Given the description of an element on the screen output the (x, y) to click on. 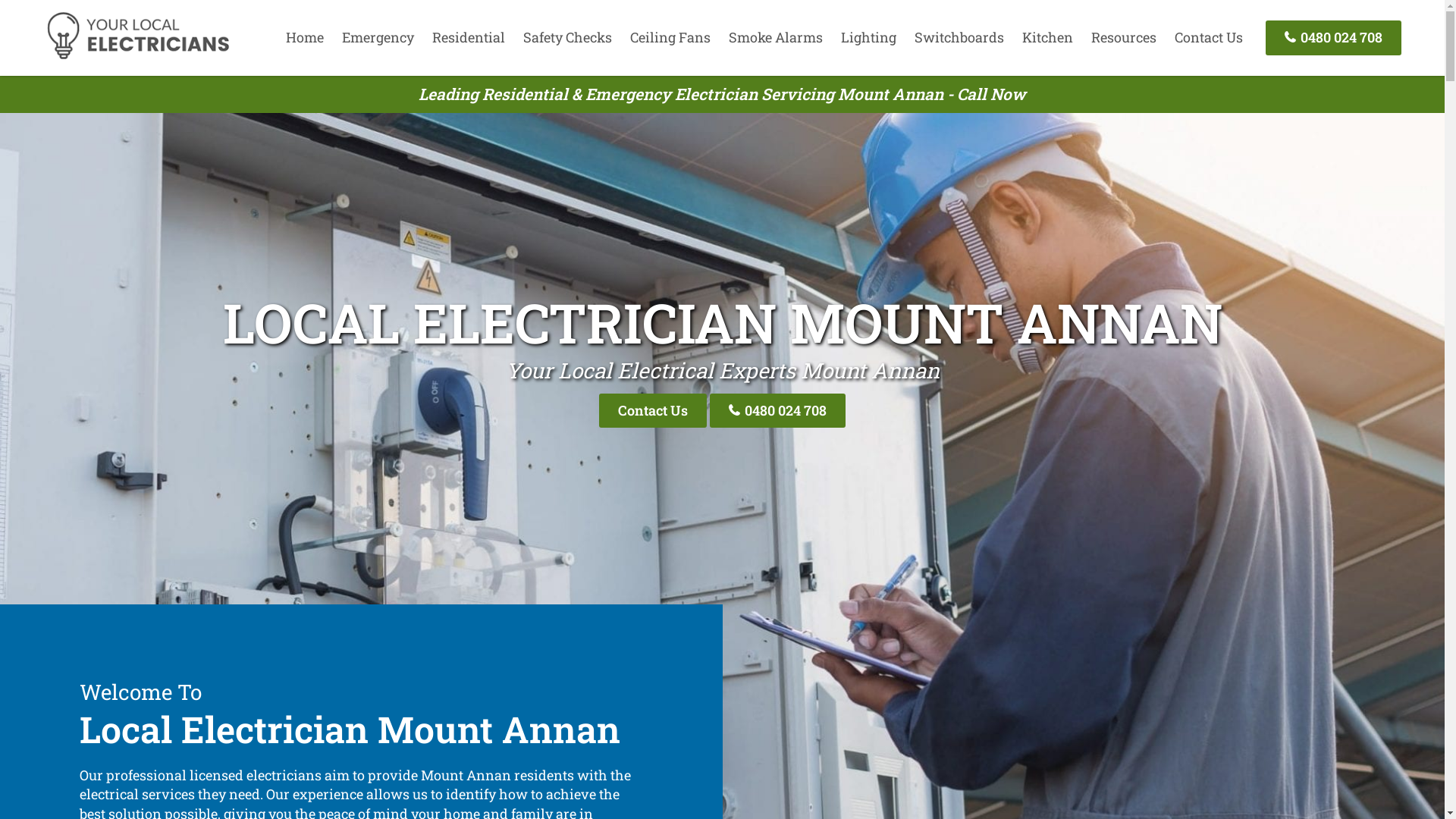
Home Element type: text (304, 37)
Residential Element type: text (468, 37)
Contact Us Element type: text (652, 410)
Electricians Element type: hover (137, 56)
Resources Element type: text (1123, 37)
Contact Us Element type: text (1208, 37)
Safety Checks Element type: text (567, 37)
Smoke Alarms Element type: text (775, 37)
Emergency Element type: text (377, 37)
Lighting Element type: text (868, 37)
0480 024 708 Element type: text (1333, 37)
0480 024 708 Element type: text (777, 410)
Switchboards Element type: text (958, 37)
Ceiling Fans Element type: text (670, 37)
Kitchen Element type: text (1047, 37)
